Given the description of an element on the screen output the (x, y) to click on. 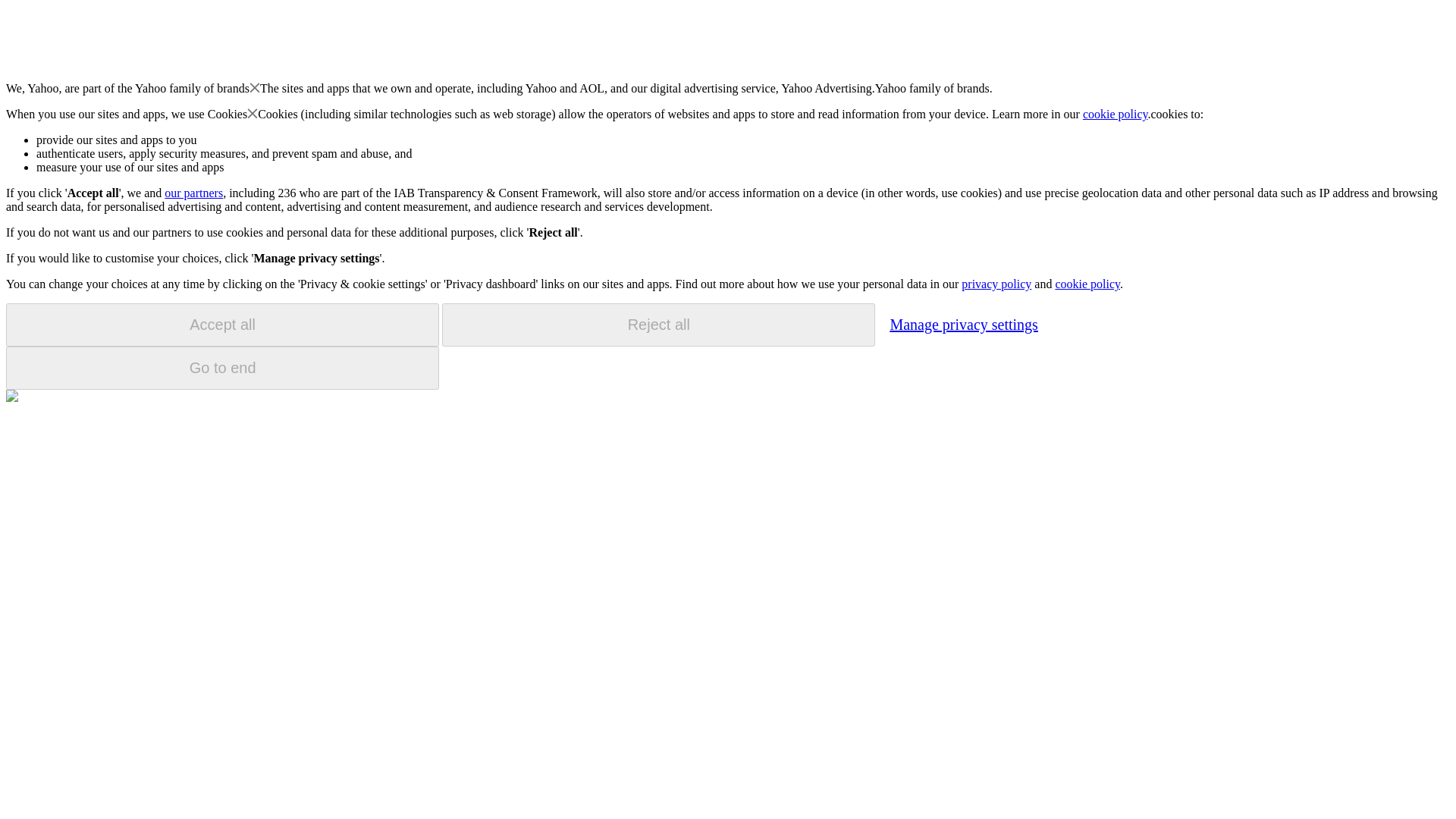
cookie policy (1115, 113)
Go to end (222, 367)
Accept all (222, 324)
Manage privacy settings (963, 323)
our partners (193, 192)
Reject all (658, 324)
privacy policy (995, 283)
cookie policy (1086, 283)
